Given the description of an element on the screen output the (x, y) to click on. 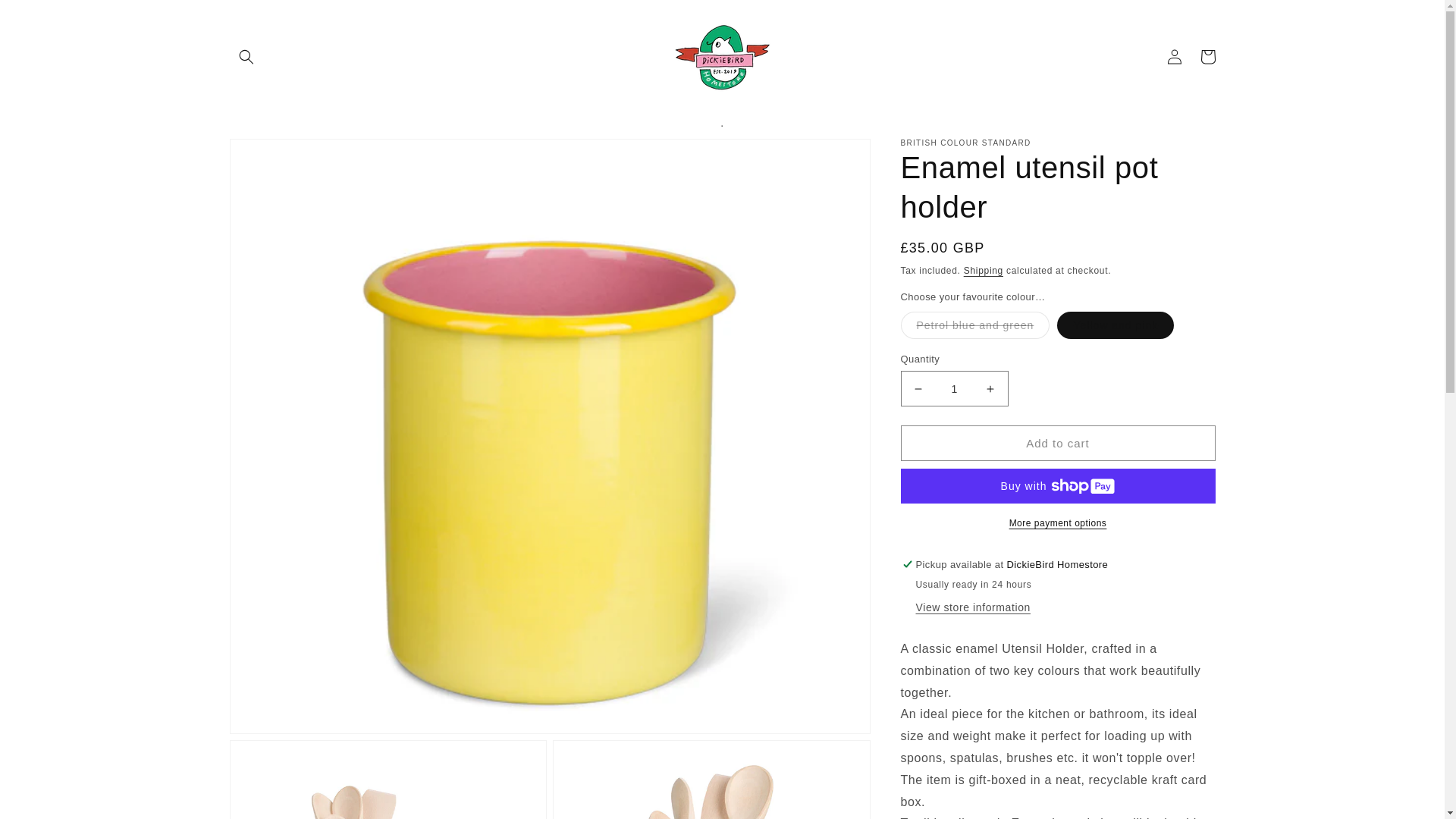
More payment options (1058, 522)
Log in (1174, 56)
Skip to content (45, 17)
View store information (972, 608)
Cart (1207, 56)
1 (955, 388)
Skip to product information (274, 155)
Increase quantity for Enamel utensil pot holder (990, 388)
Decrease quantity for Enamel utensil pot holder (917, 388)
Add to cart (1058, 443)
Shipping (983, 270)
